Given the description of an element on the screen output the (x, y) to click on. 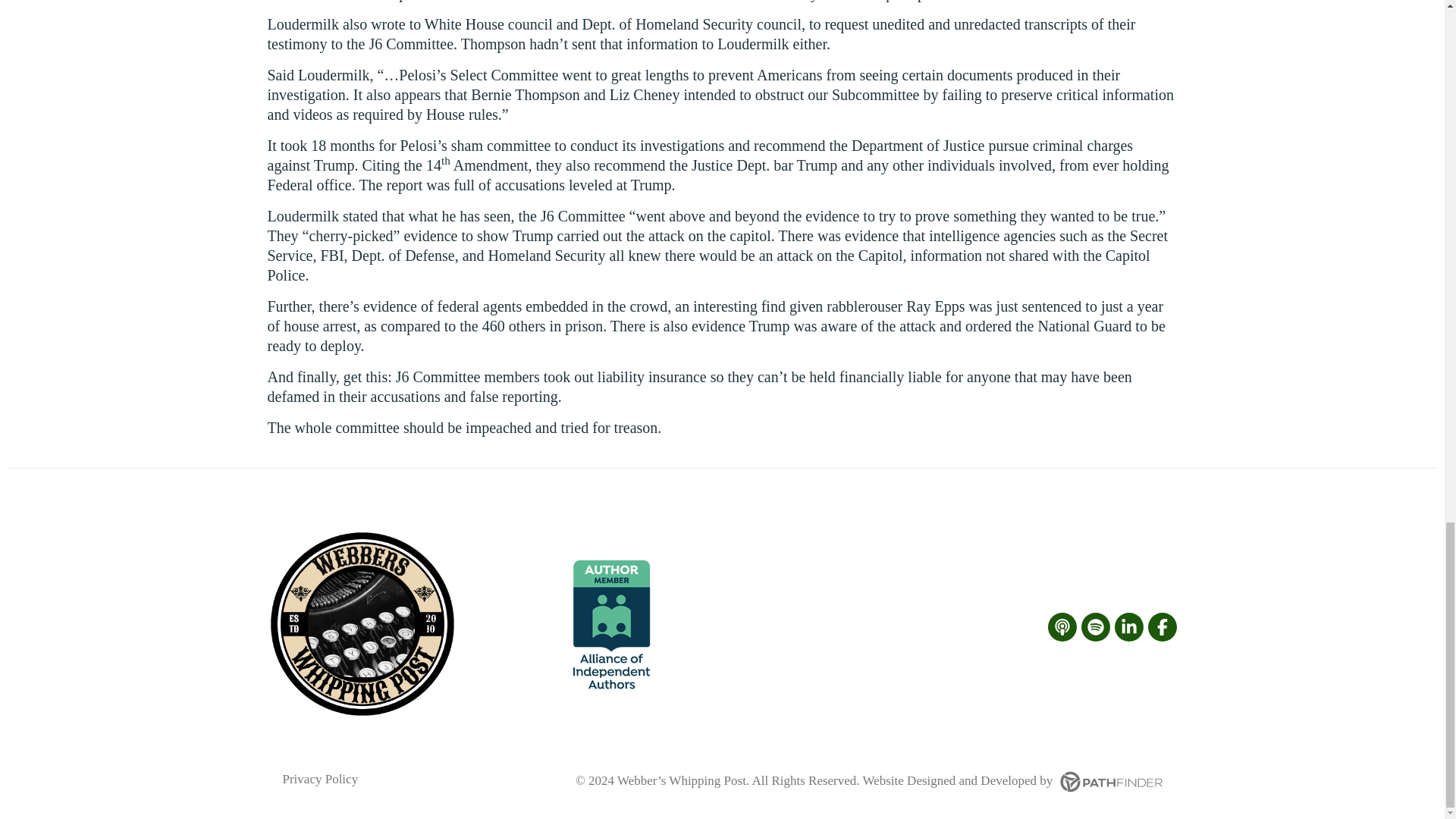
Privacy Policy (320, 779)
Designed and Developed by (1034, 780)
